Given the description of an element on the screen output the (x, y) to click on. 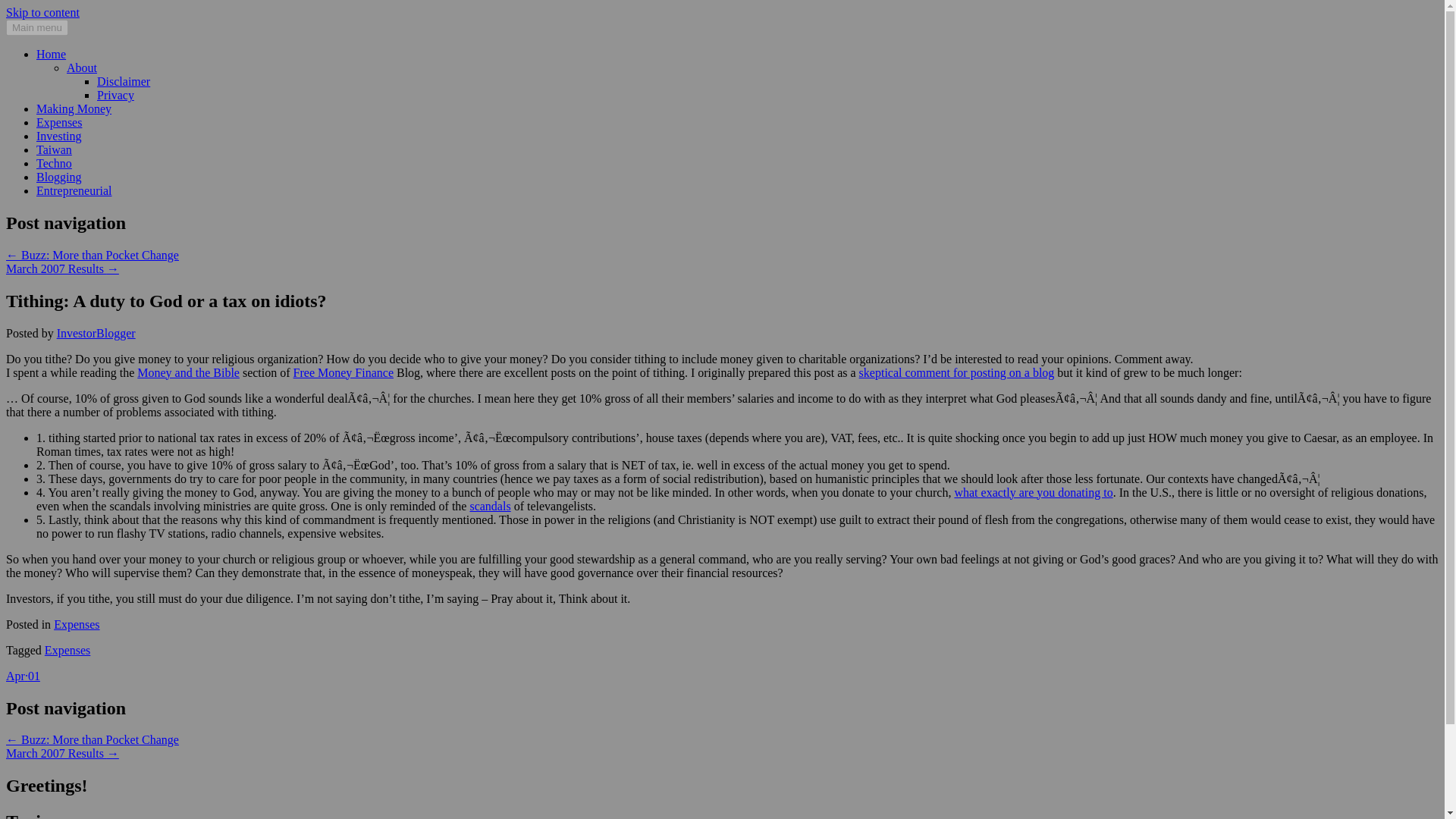
Skip to content (42, 11)
Privacy (115, 94)
Blogging (58, 176)
scandals (489, 505)
Money and the Bible (188, 372)
Skip to content (42, 11)
Home (50, 53)
Techno (53, 163)
Main menu (36, 27)
About (81, 67)
It starts right here! (50, 53)
what exactly are you donating to (1032, 492)
skeptical comment for posting on a blog (956, 372)
Disclaimer (123, 81)
Expenses (76, 624)
